Given the description of an element on the screen output the (x, y) to click on. 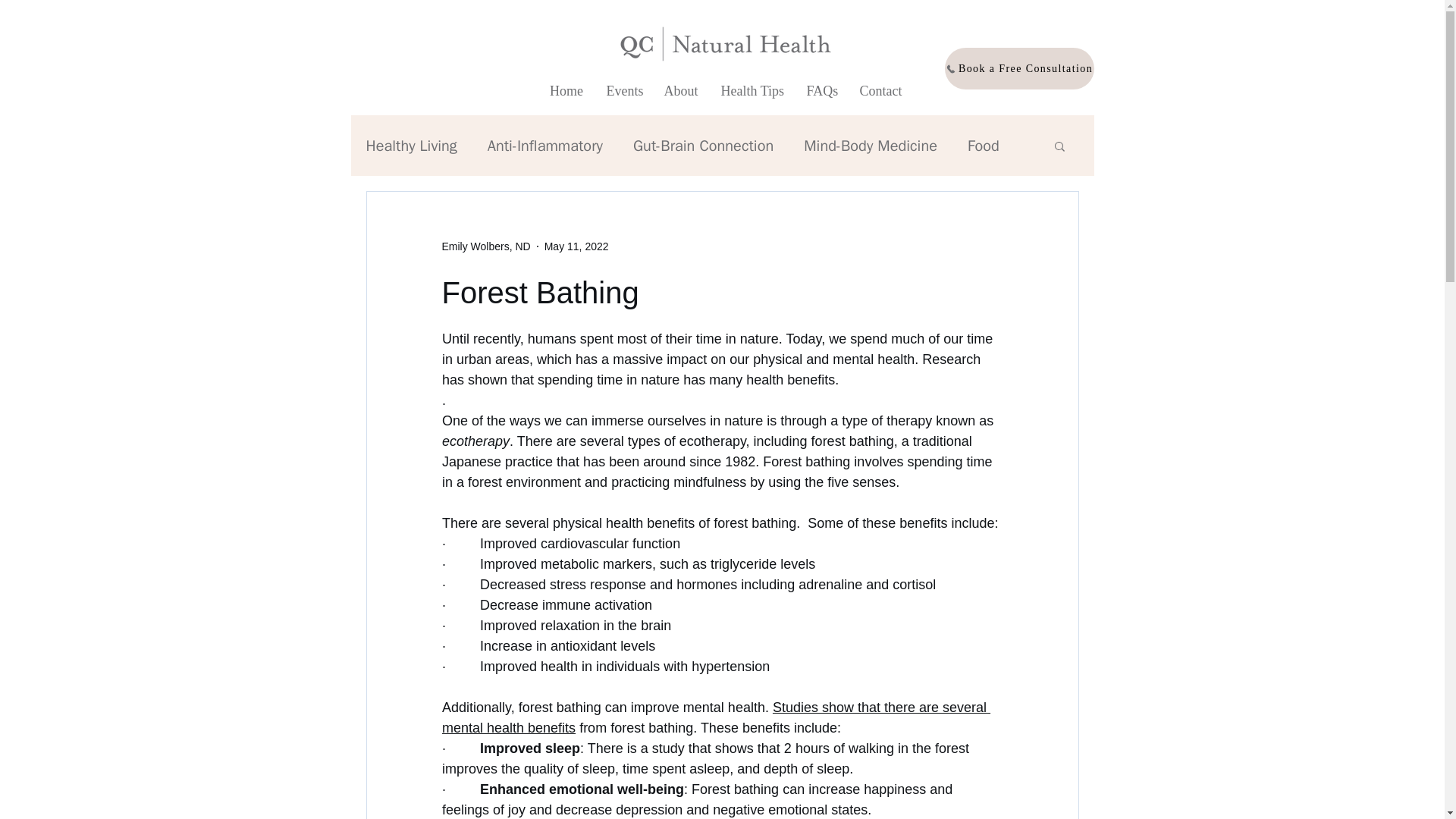
Health Tips (752, 90)
May 11, 2022 (576, 245)
Emily Wolbers, ND (485, 245)
Events (623, 90)
Studies show that there are several mental health benefits (715, 717)
Gut-Brain Connection (703, 145)
Home (566, 90)
FAQs (820, 90)
Mind-Body Medicine (870, 145)
Anti-Inflammatory (544, 145)
About (680, 90)
Book a Free Consultation (1019, 68)
Contact (880, 90)
Food (983, 145)
Healthy Living (411, 145)
